Given the description of an element on the screen output the (x, y) to click on. 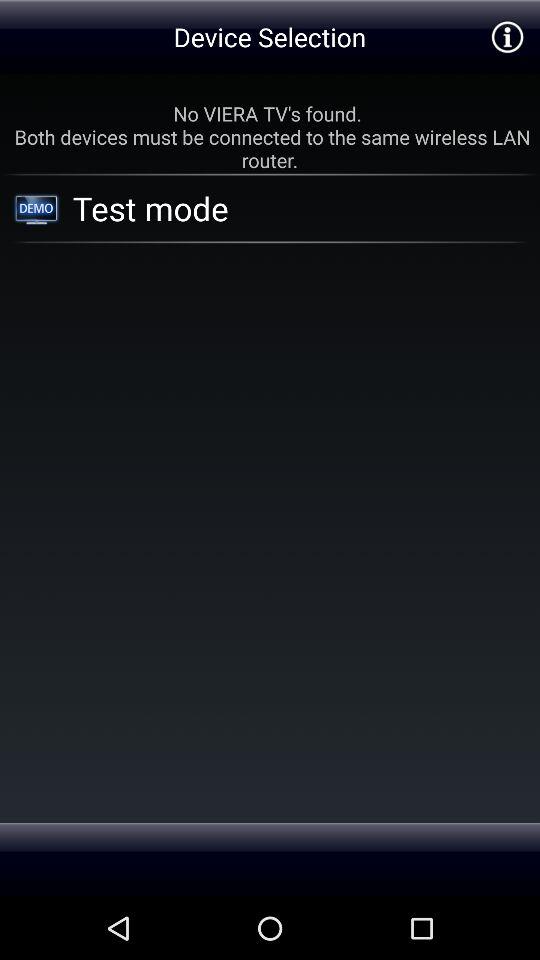
turn off item above the no viera tv item (506, 36)
